Given the description of an element on the screen output the (x, y) to click on. 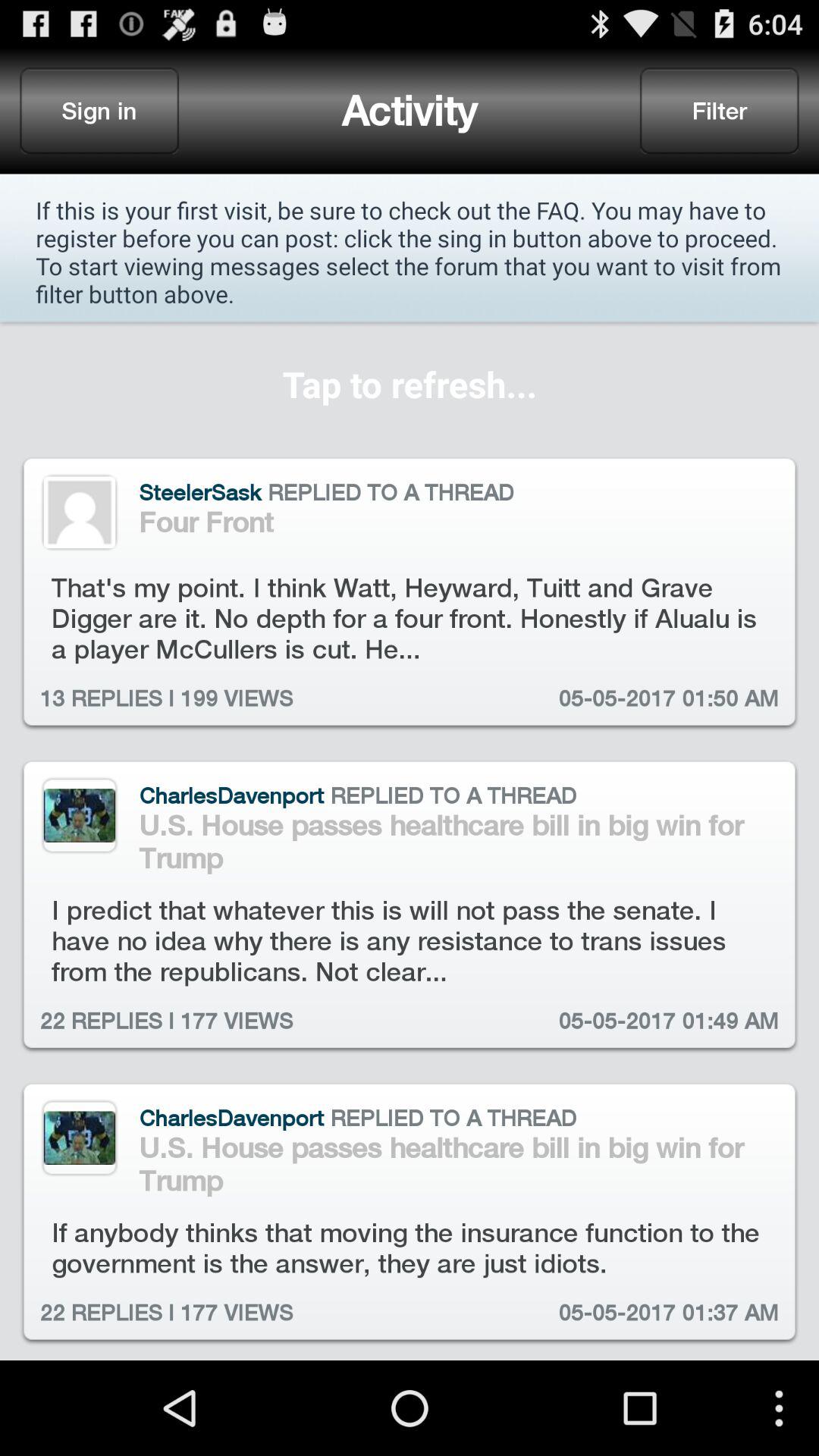
contact (79, 512)
